Given the description of an element on the screen output the (x, y) to click on. 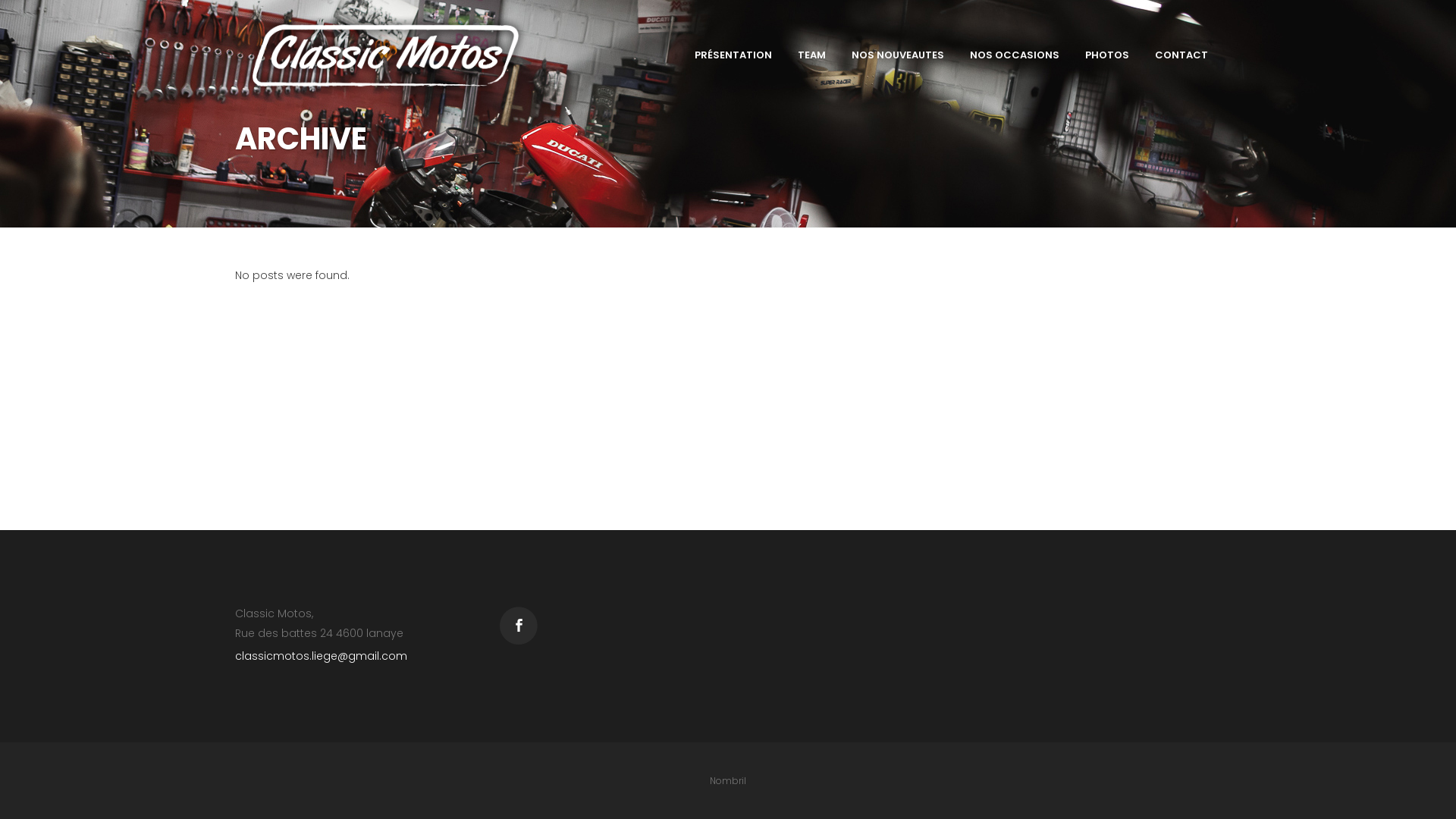
PHOTOS Element type: text (1107, 55)
NOS OCCASIONS Element type: text (1014, 55)
NOS NOUVEAUTES Element type: text (897, 55)
Nombril Element type: text (727, 779)
TEAM Element type: text (811, 55)
CONTACT Element type: text (1181, 55)
classicmotos.liege@gmail.com Element type: text (321, 655)
